Given the description of an element on the screen output the (x, y) to click on. 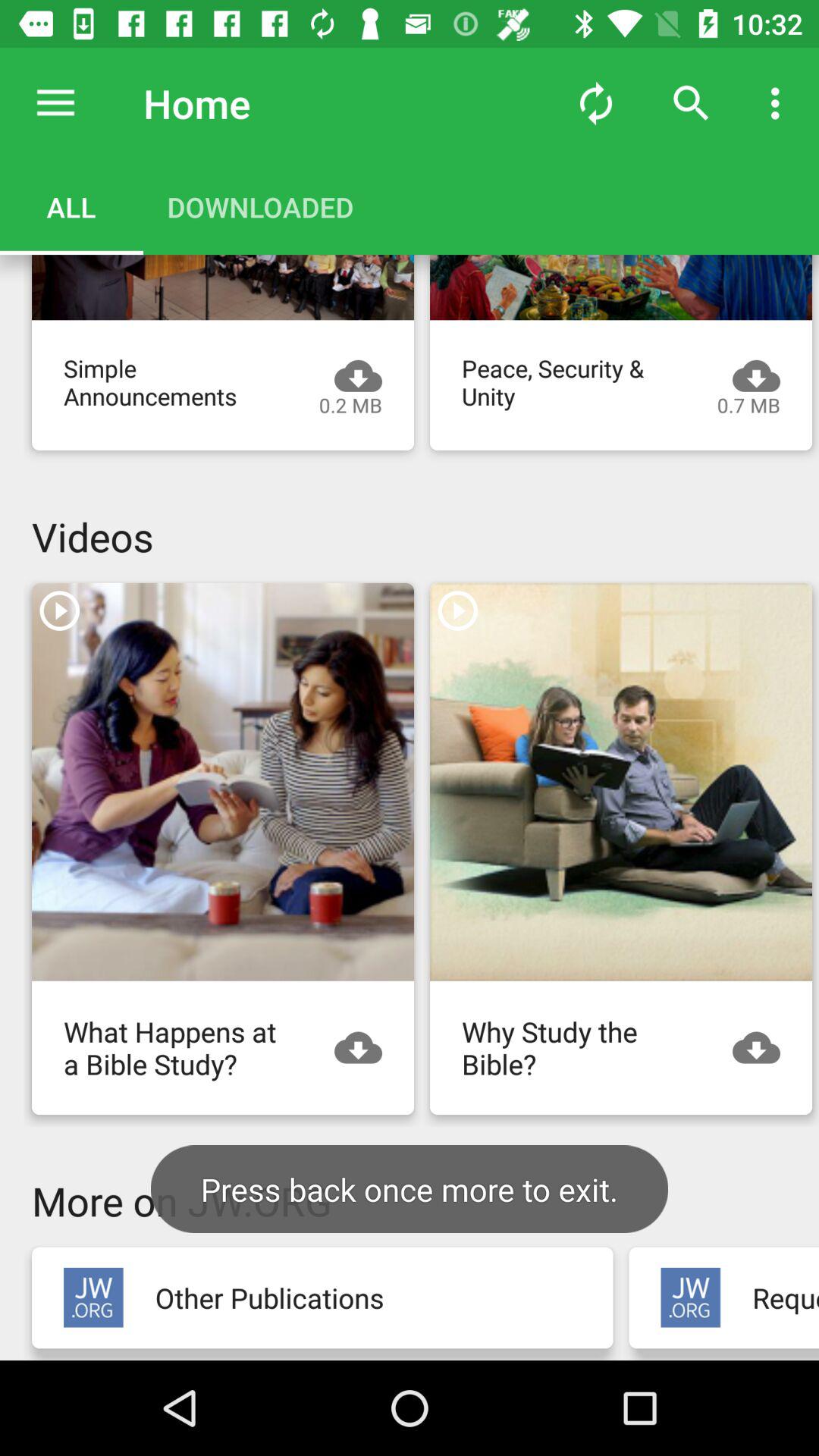
select videos (620, 781)
